Given the description of an element on the screen output the (x, y) to click on. 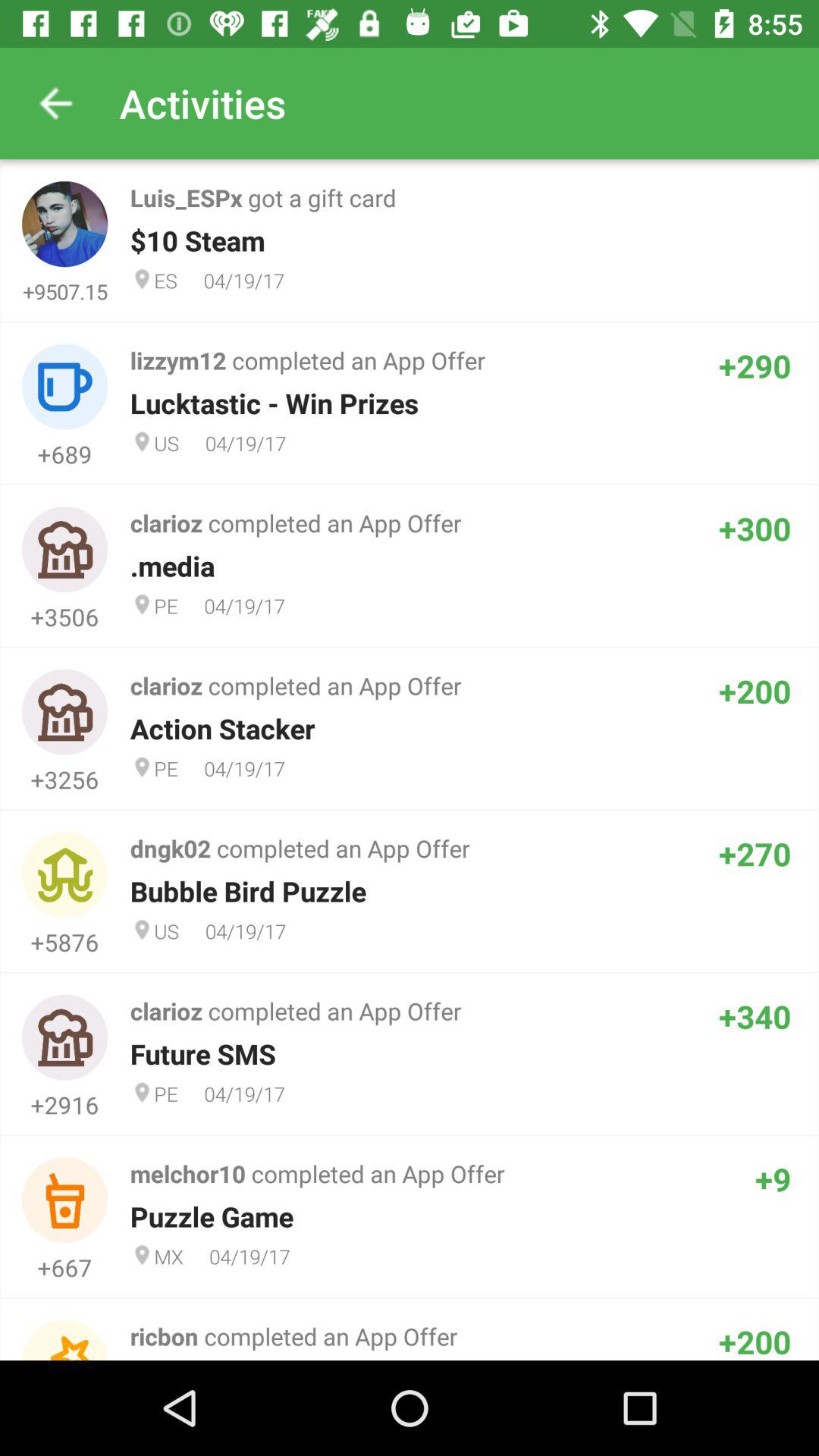
click on second location icon (141, 441)
click on the first image from the bottom of the page (65, 1339)
